Given the description of an element on the screen output the (x, y) to click on. 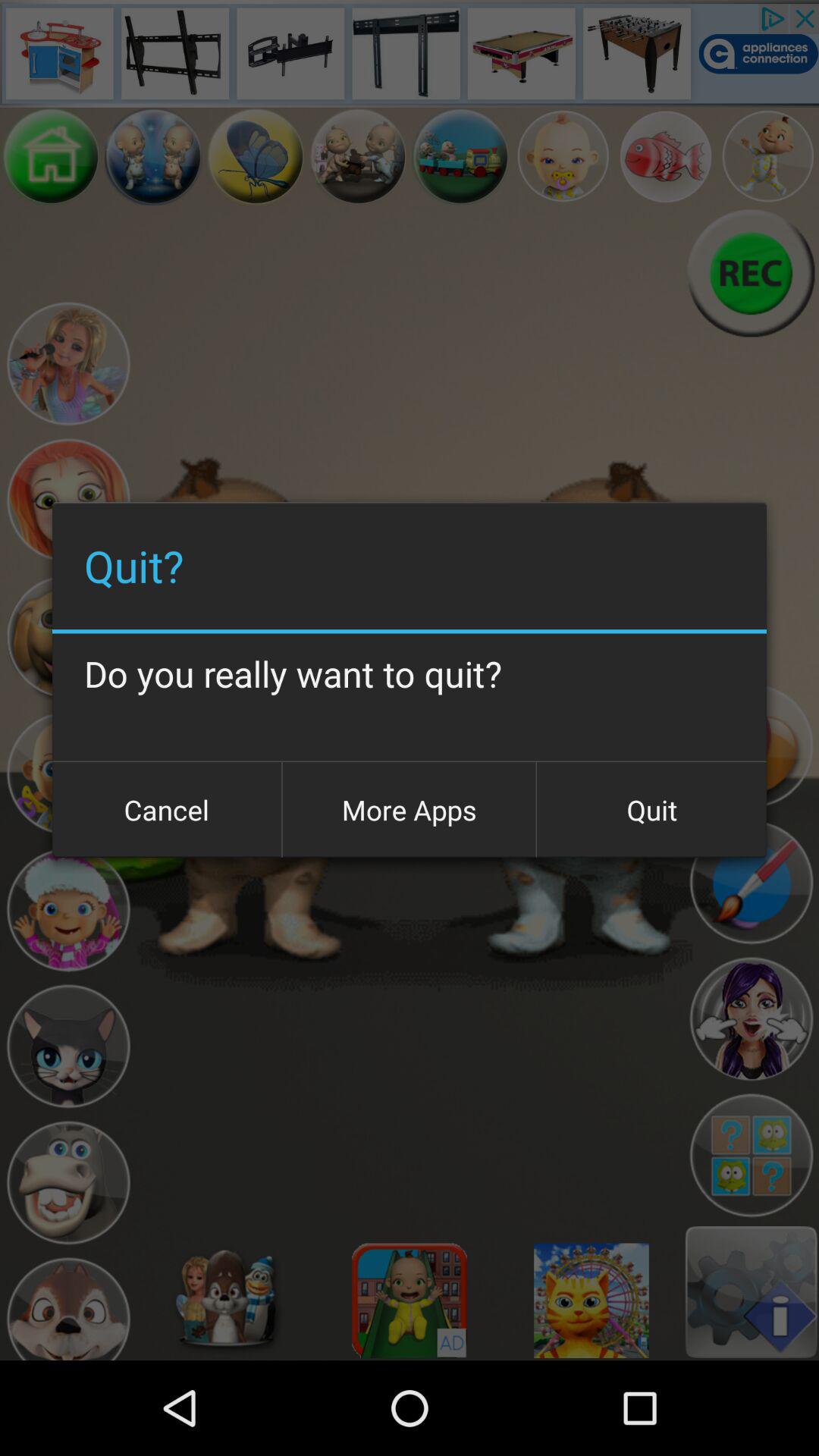
select character (68, 1305)
